Given the description of an element on the screen output the (x, y) to click on. 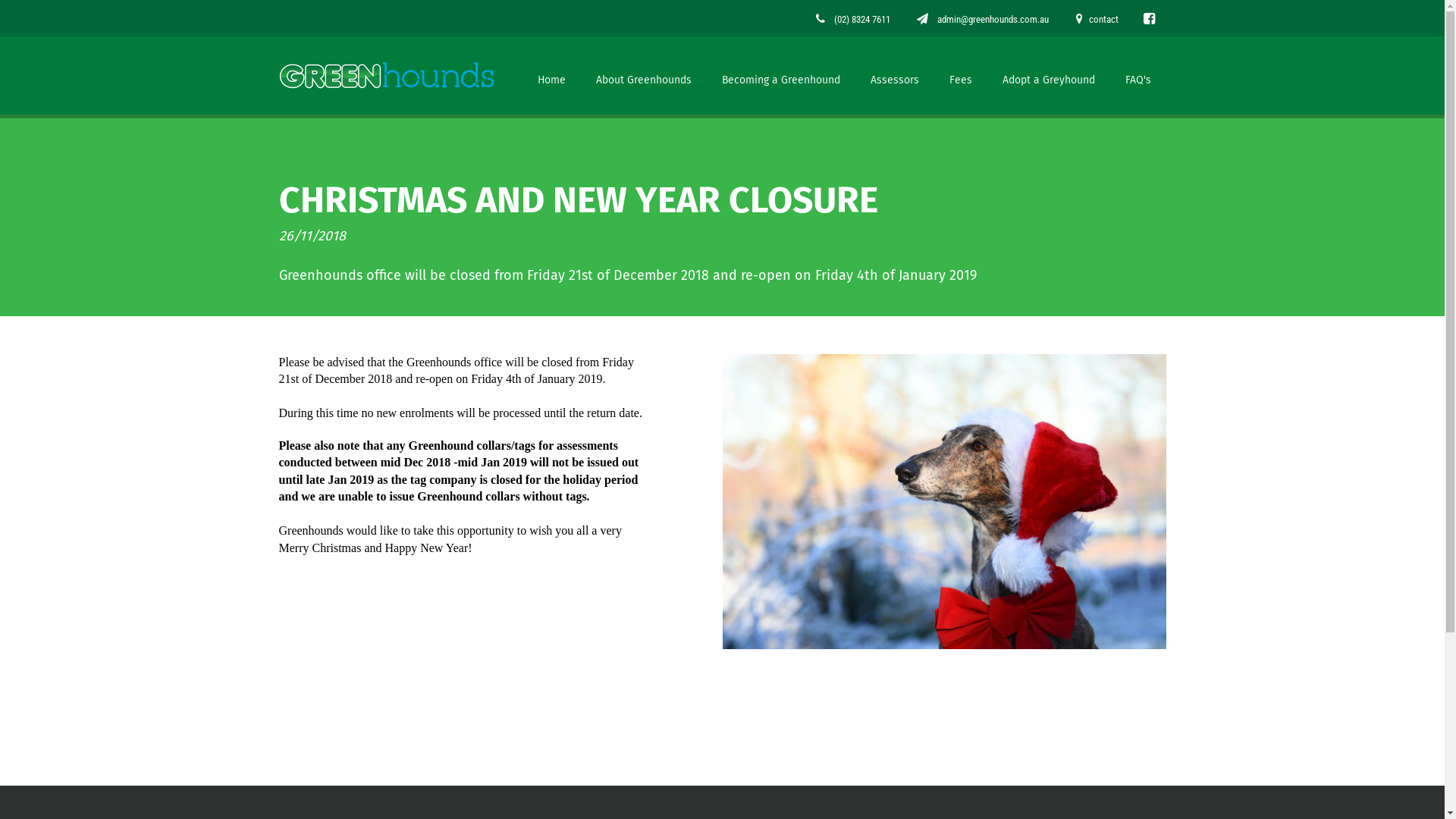
Home Element type: text (550, 75)
Assessors Element type: text (894, 75)
Fees Element type: text (960, 75)
(02) 8324 7611 Element type: text (852, 19)
Greenhounds Element type: text (386, 75)
Becoming a Greenhound Element type: text (780, 75)
About Greenhounds Element type: text (643, 75)
FAQ's Element type: text (1138, 75)
Adopt a Greyhound Element type: text (1048, 75)
contact Element type: text (1096, 19)
admin@greenhounds.com.au Element type: text (982, 19)
